Given the description of an element on the screen output the (x, y) to click on. 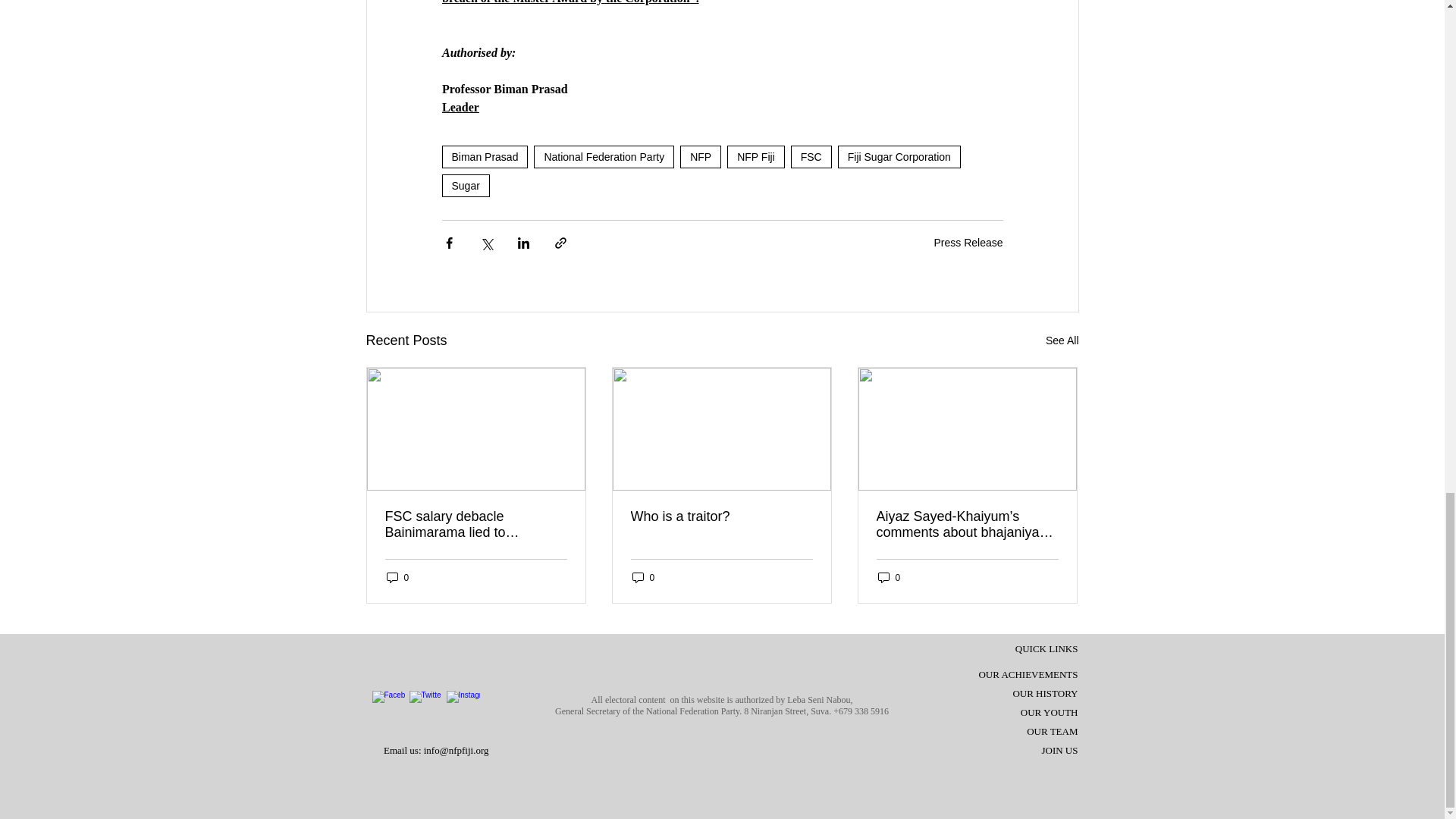
NFP Fiji (755, 156)
Fiji Sugar Corporation (899, 156)
Sugar (465, 185)
NFP (699, 156)
Biman Prasad (484, 156)
National Federation Party (604, 156)
FSC (810, 156)
